Given the description of an element on the screen output the (x, y) to click on. 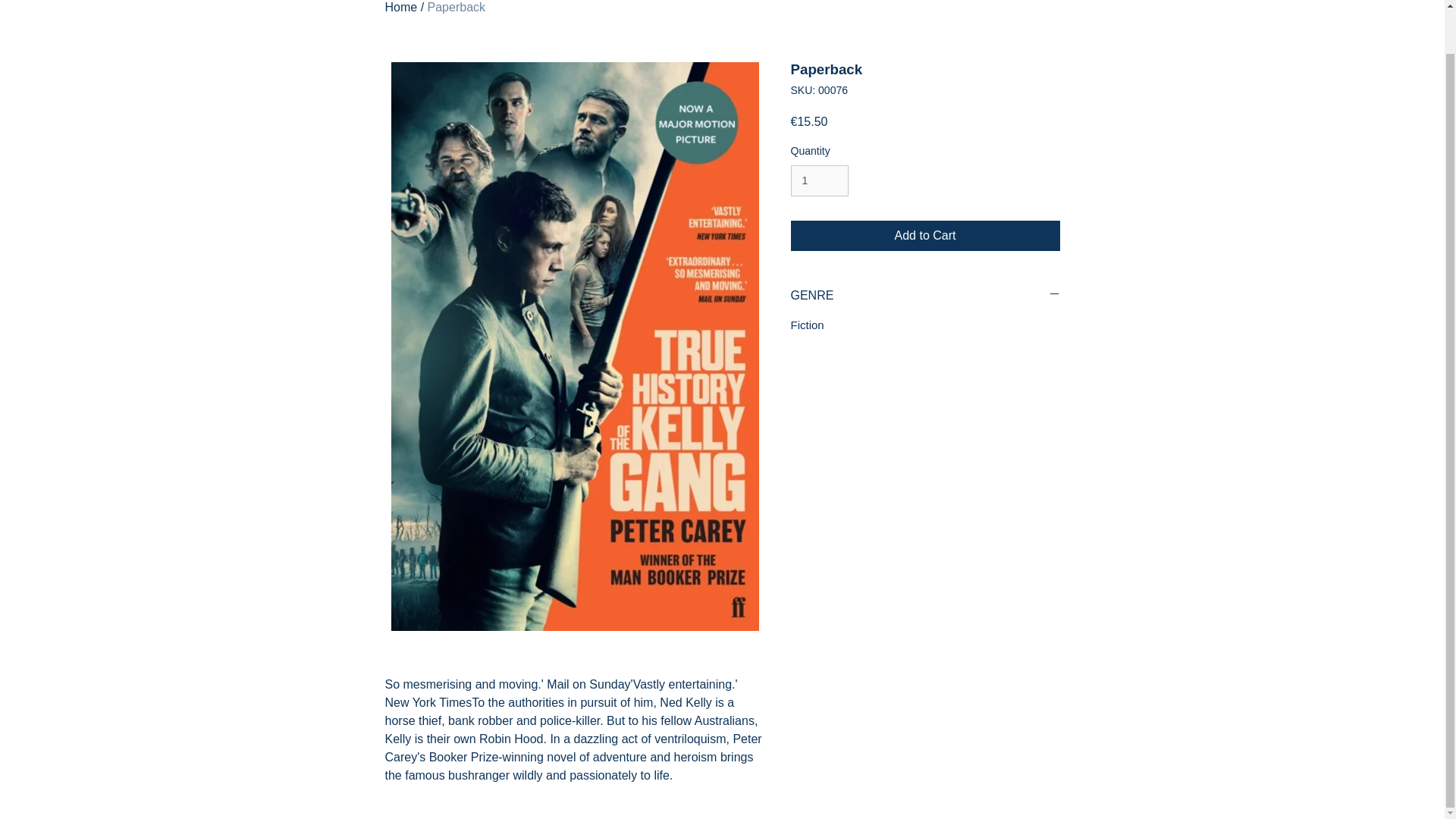
1 (818, 180)
Home (401, 6)
Add to Cart (924, 235)
GENRE (924, 295)
Paperback (457, 6)
